Given the description of an element on the screen output the (x, y) to click on. 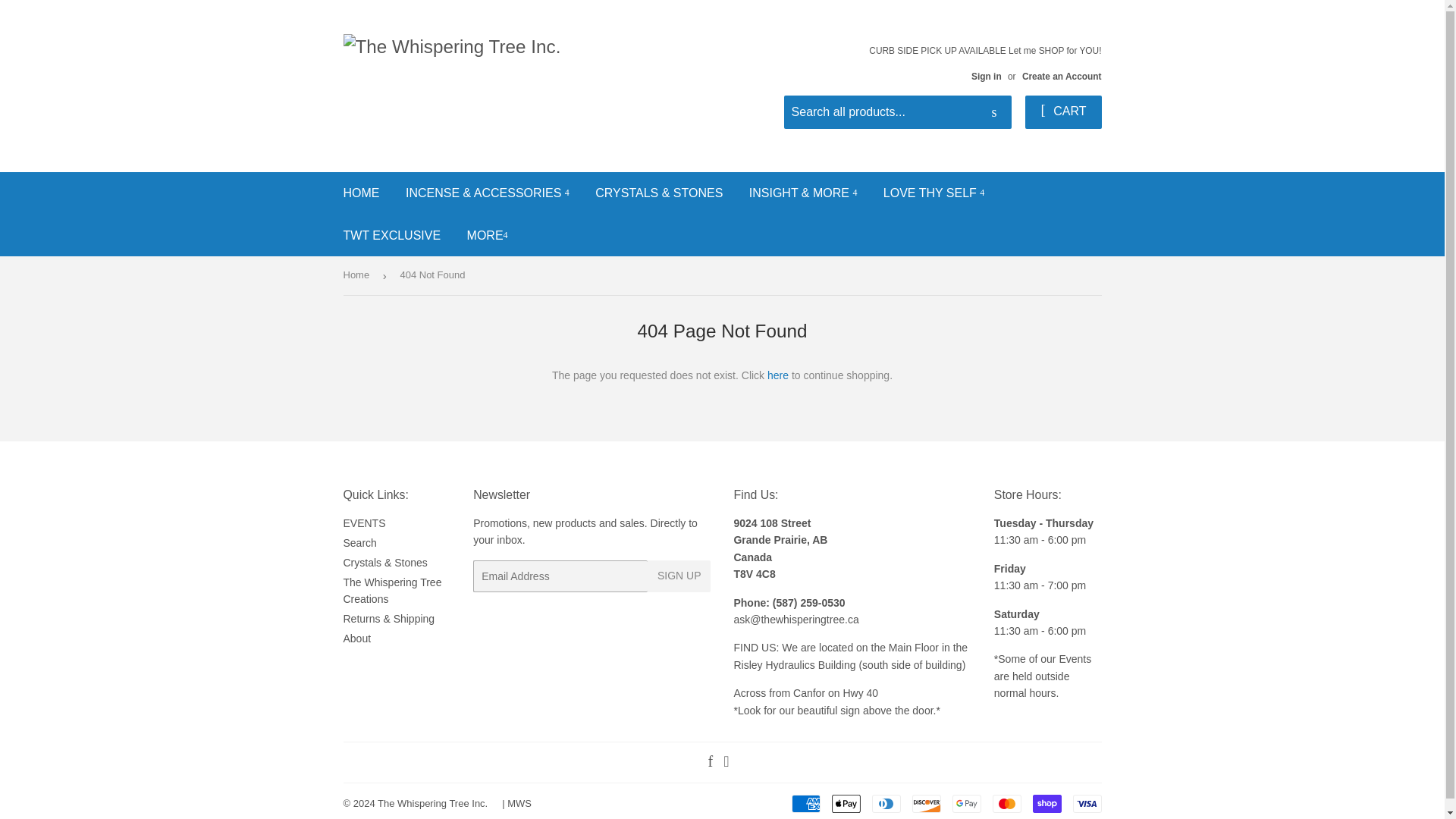
HOME (361, 192)
Shop Pay (1046, 803)
CART (1062, 111)
Want to build your own online store? (518, 803)
Create an Account (1062, 76)
Mastercard (1005, 803)
Visa (1085, 803)
Diners Club (886, 803)
Sign in (986, 76)
Apple Pay (845, 803)
